Given the description of an element on the screen output the (x, y) to click on. 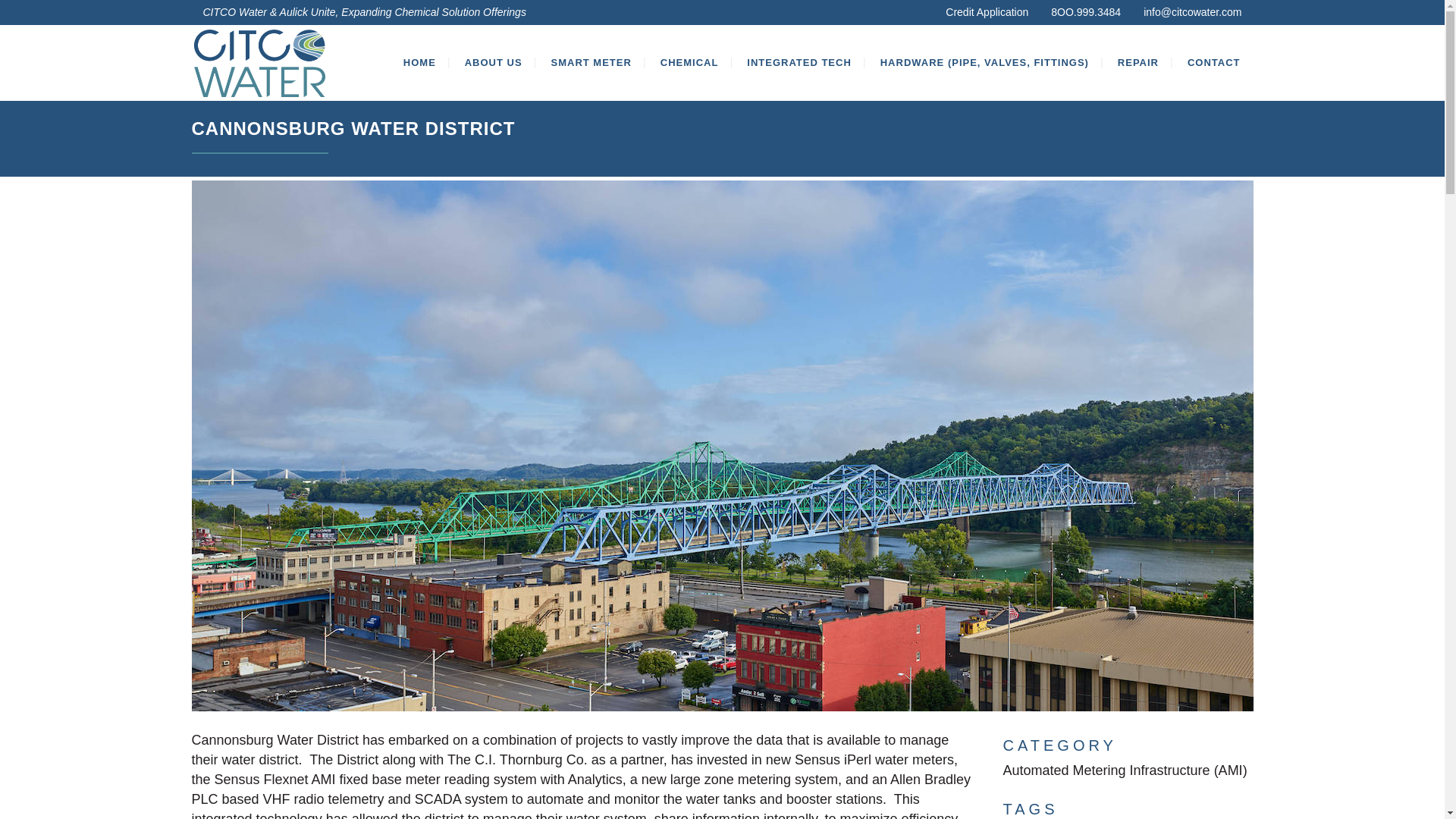
Credit Application (985, 11)
CHEMICAL (689, 62)
ABOUT US (493, 62)
Cannonsburg Water District Ashland KY (721, 720)
SMART METER (591, 62)
INTEGRATED TECH (798, 62)
8OO.999.3484 (1086, 11)
CONTACT (1213, 62)
